Given the description of an element on the screen output the (x, y) to click on. 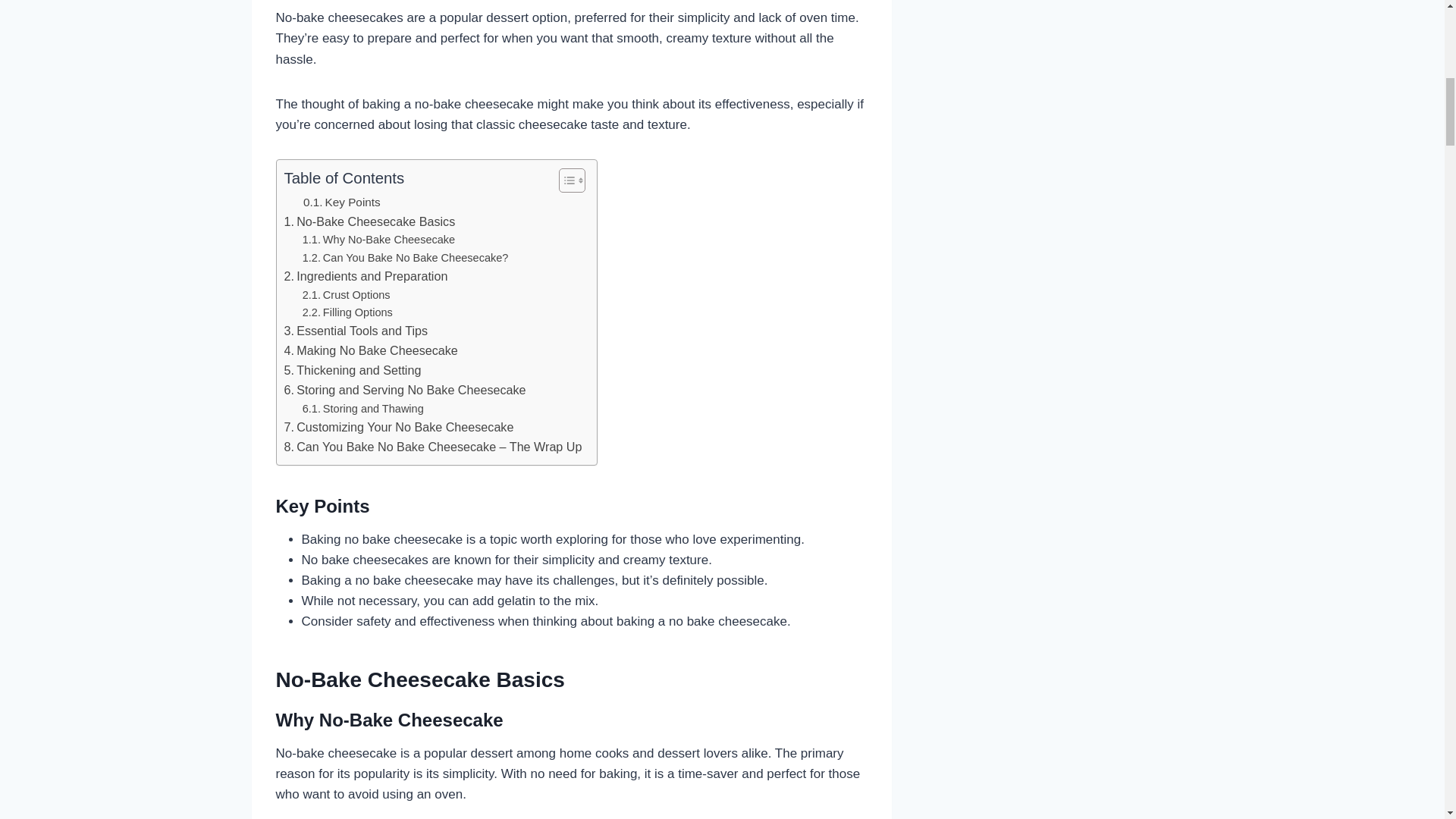
Filling Options (347, 312)
Storing and Thawing (362, 408)
Filling Options (347, 312)
Thickening and Setting (351, 370)
Thickening and Setting (351, 370)
Can You Bake No Bake Cheesecake? (405, 257)
Customizing Your No Bake Cheesecake (398, 427)
Crust Options (346, 294)
Why No-Bake Cheesecake (378, 239)
Storing and Thawing (362, 408)
Can You Bake No Bake Cheesecake? (405, 257)
Ingredients and Preparation (364, 276)
No-Bake Cheesecake Basics (368, 221)
Key Points (341, 202)
Customizing Your No Bake Cheesecake (398, 427)
